Given the description of an element on the screen output the (x, y) to click on. 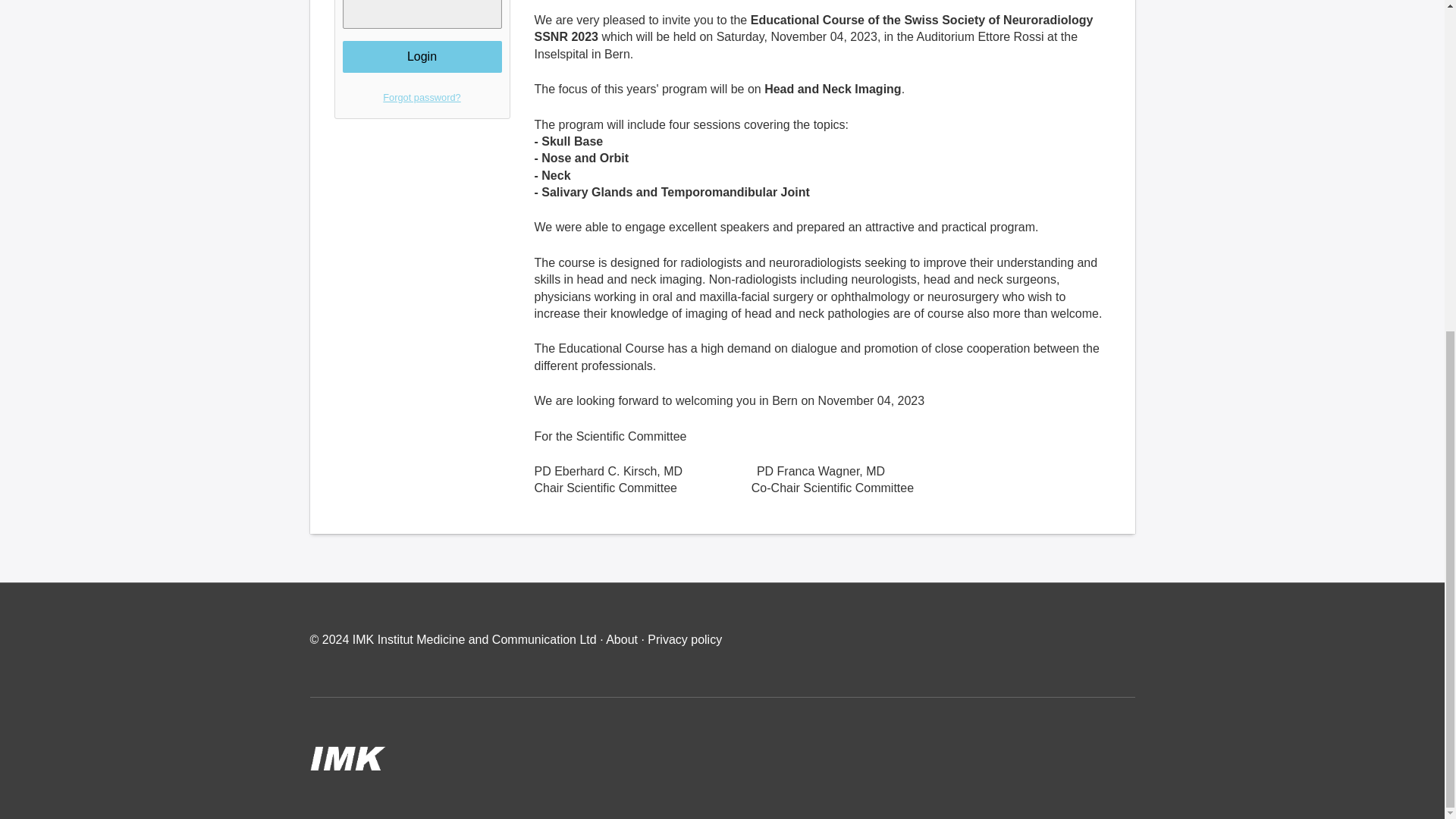
Login (422, 56)
Forgot password? (422, 97)
Privacy policy (684, 639)
About (622, 639)
Login (422, 56)
